Given the description of an element on the screen output the (x, y) to click on. 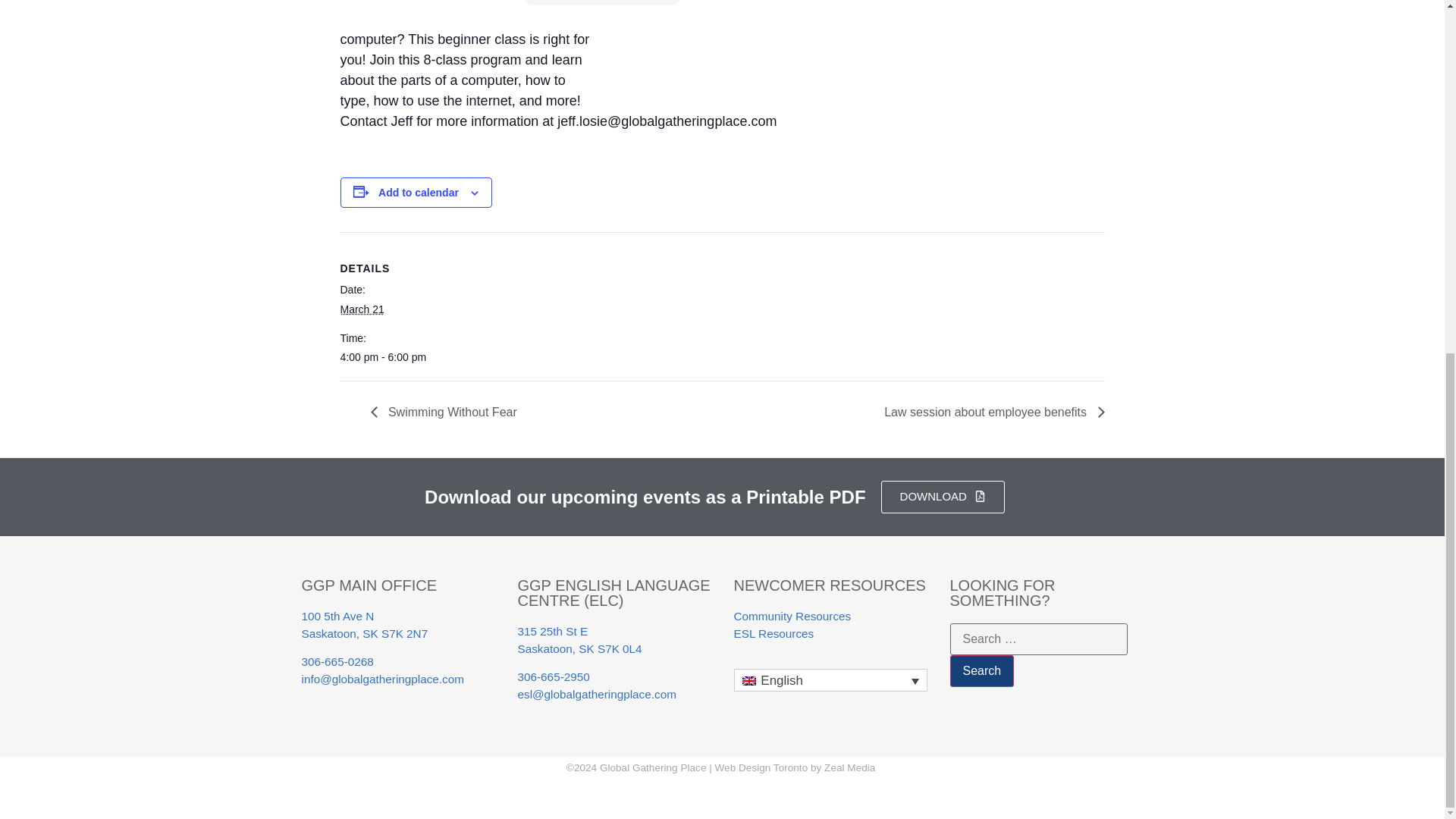
Search (981, 671)
2024-03-21 (403, 357)
Web Design Toronto (761, 767)
Search (981, 671)
2024-03-21 (361, 309)
